Given the description of an element on the screen output the (x, y) to click on. 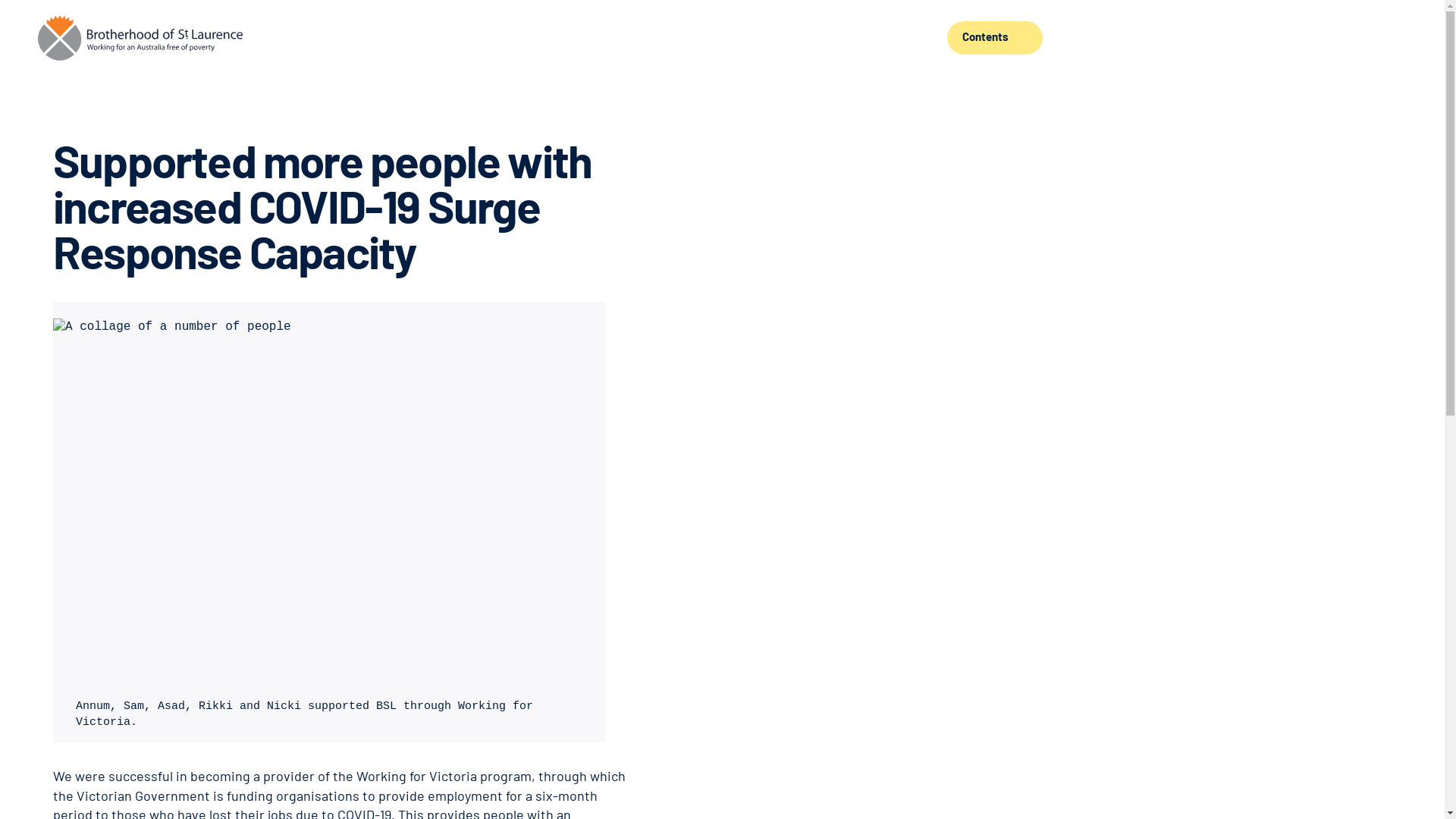
Contents Element type: text (994, 37)
? Element type: hover (139, 37)
